Given the description of an element on the screen output the (x, y) to click on. 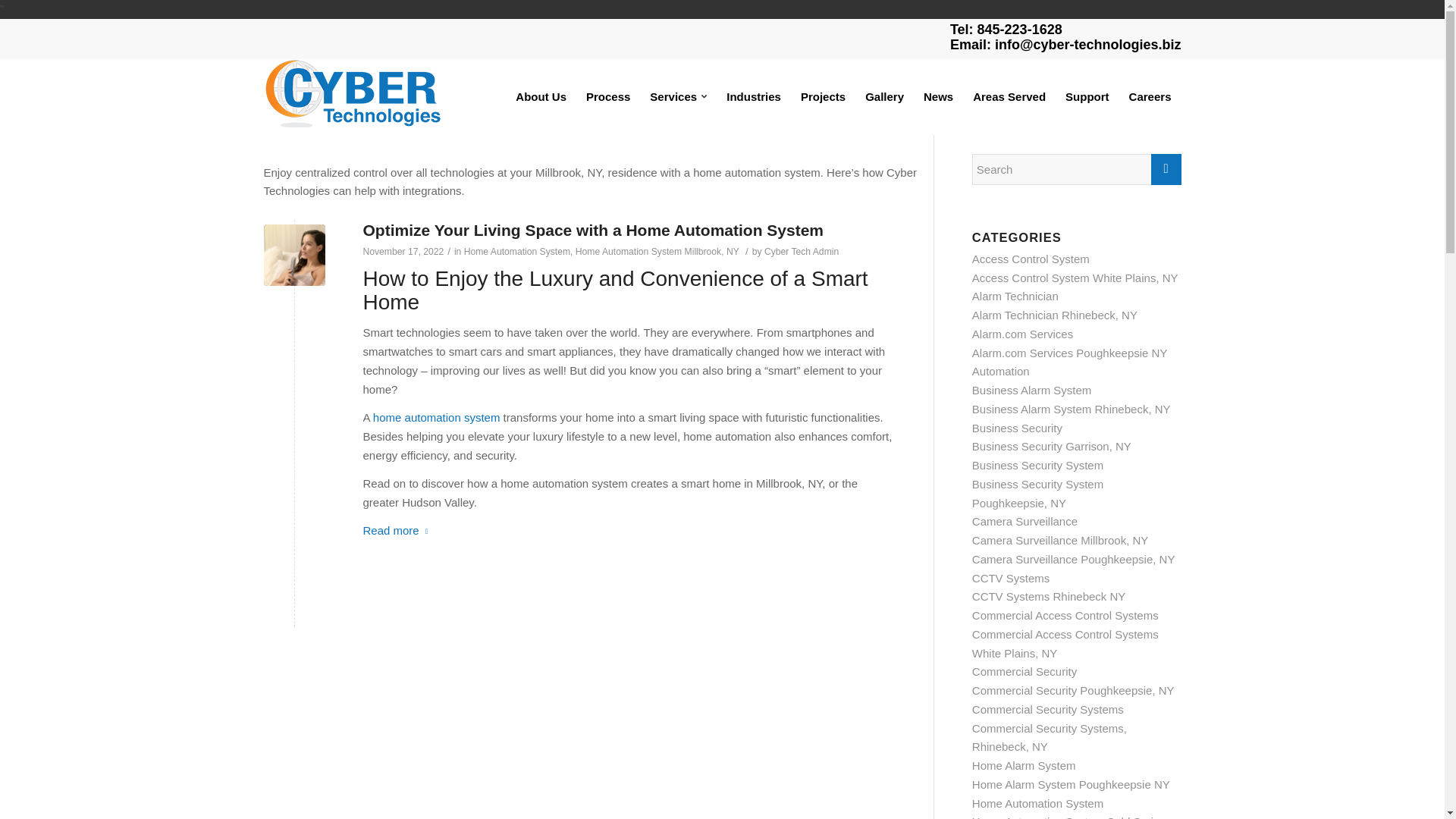
Optimize Your Living Space with a Home Automation System (593, 230)
Areas Served (1008, 96)
Alarm Technician (1015, 295)
Industries We Serve (753, 96)
Home Automation System (517, 251)
Services (678, 96)
Alarm.com Services (1022, 333)
About Us (540, 96)
Access Control System White Plains, NY (1074, 277)
Alarm Technician Rhinebeck, NY (1054, 314)
Alarm.com Services Poughkeepsie NY (1069, 352)
Read more (397, 530)
Cyber Tech Admin (801, 251)
Access Control System (1030, 258)
About Us (540, 96)
